Given the description of an element on the screen output the (x, y) to click on. 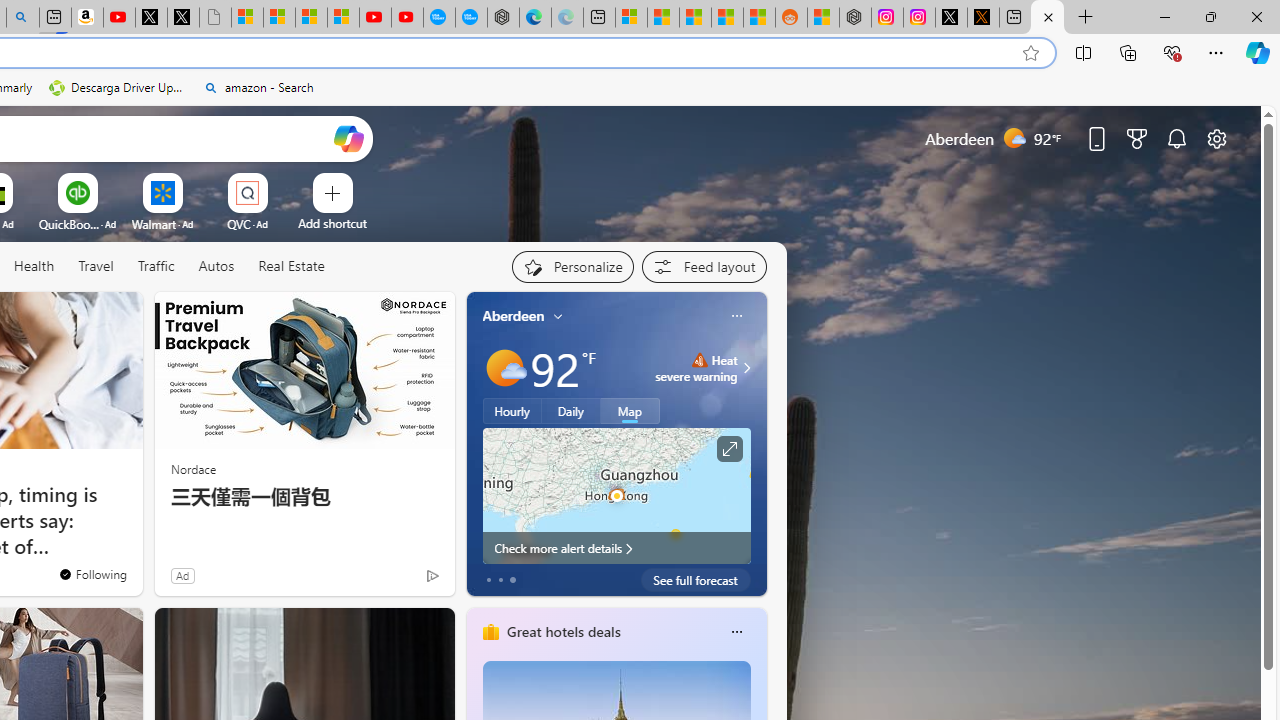
Feed settings (703, 266)
Hourly (511, 411)
tab-2 (511, 579)
Map (630, 411)
Aberdeen (513, 315)
